Given the description of an element on the screen output the (x, y) to click on. 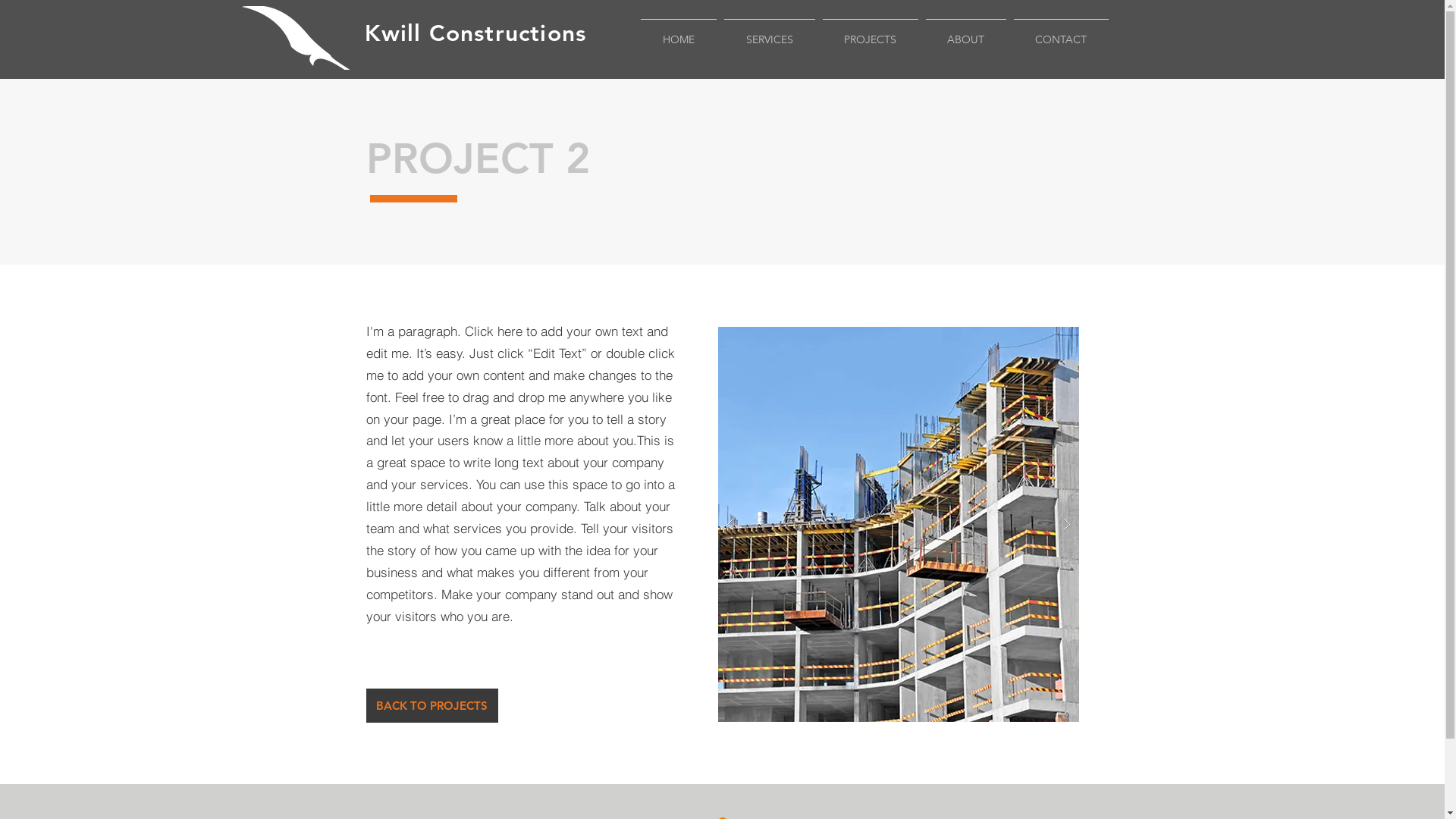
Kwill Constructions Element type: text (475, 33)
PROJECTS Element type: text (870, 32)
CONTACT Element type: text (1061, 32)
HOME Element type: text (678, 32)
BACK TO PROJECTS Element type: text (431, 705)
ABOUT Element type: text (966, 32)
SERVICES Element type: text (769, 32)
